Given the description of an element on the screen output the (x, y) to click on. 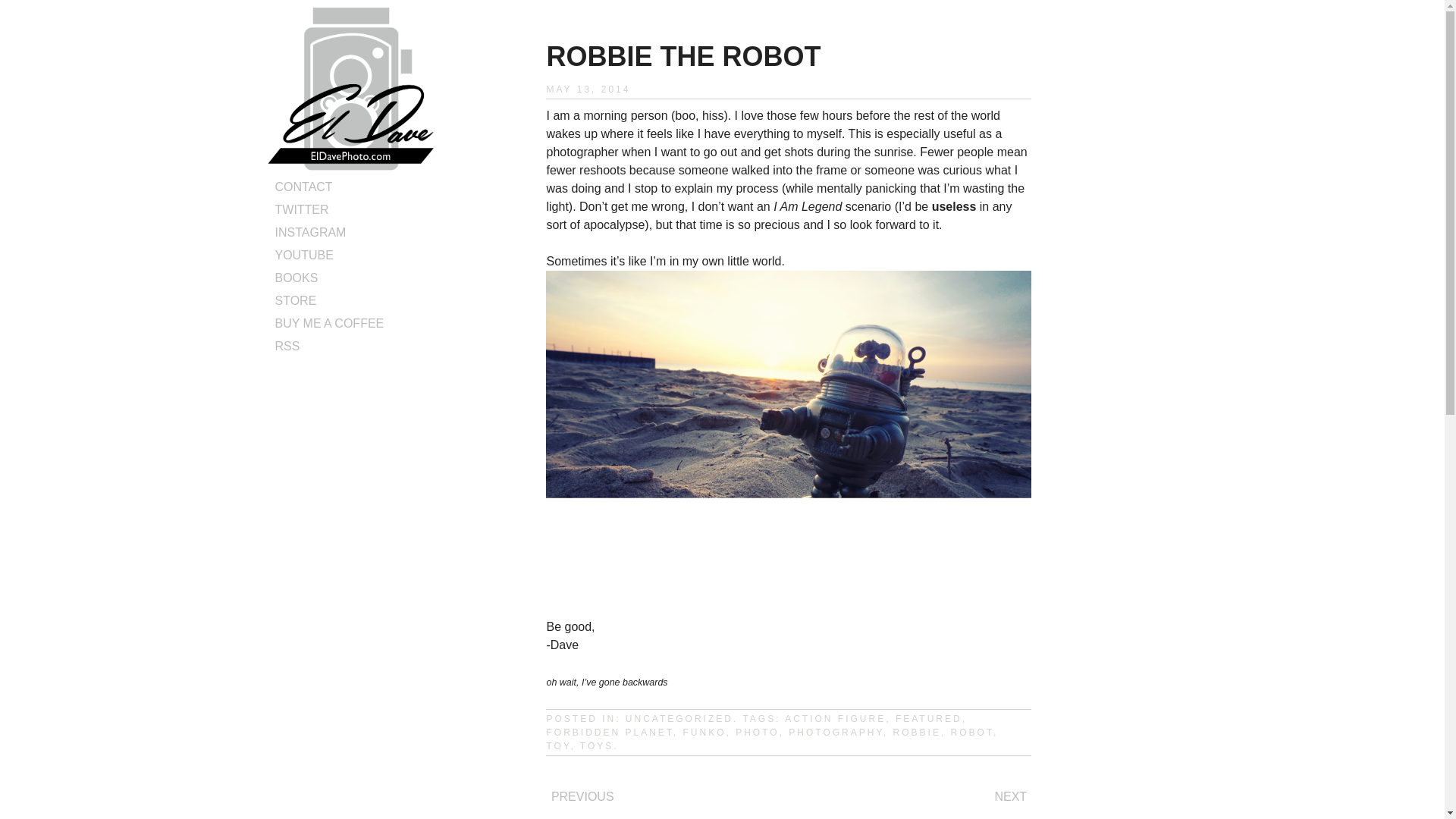
PREVIOUS (582, 796)
El Dave Photography (349, 165)
TOY (558, 746)
INSTAGRAM (310, 232)
FORBIDDEN PLANET (609, 732)
CONTACT (303, 186)
ROBOT (971, 732)
NEXT (1010, 796)
UNCATEGORIZED (679, 718)
